Given the description of an element on the screen output the (x, y) to click on. 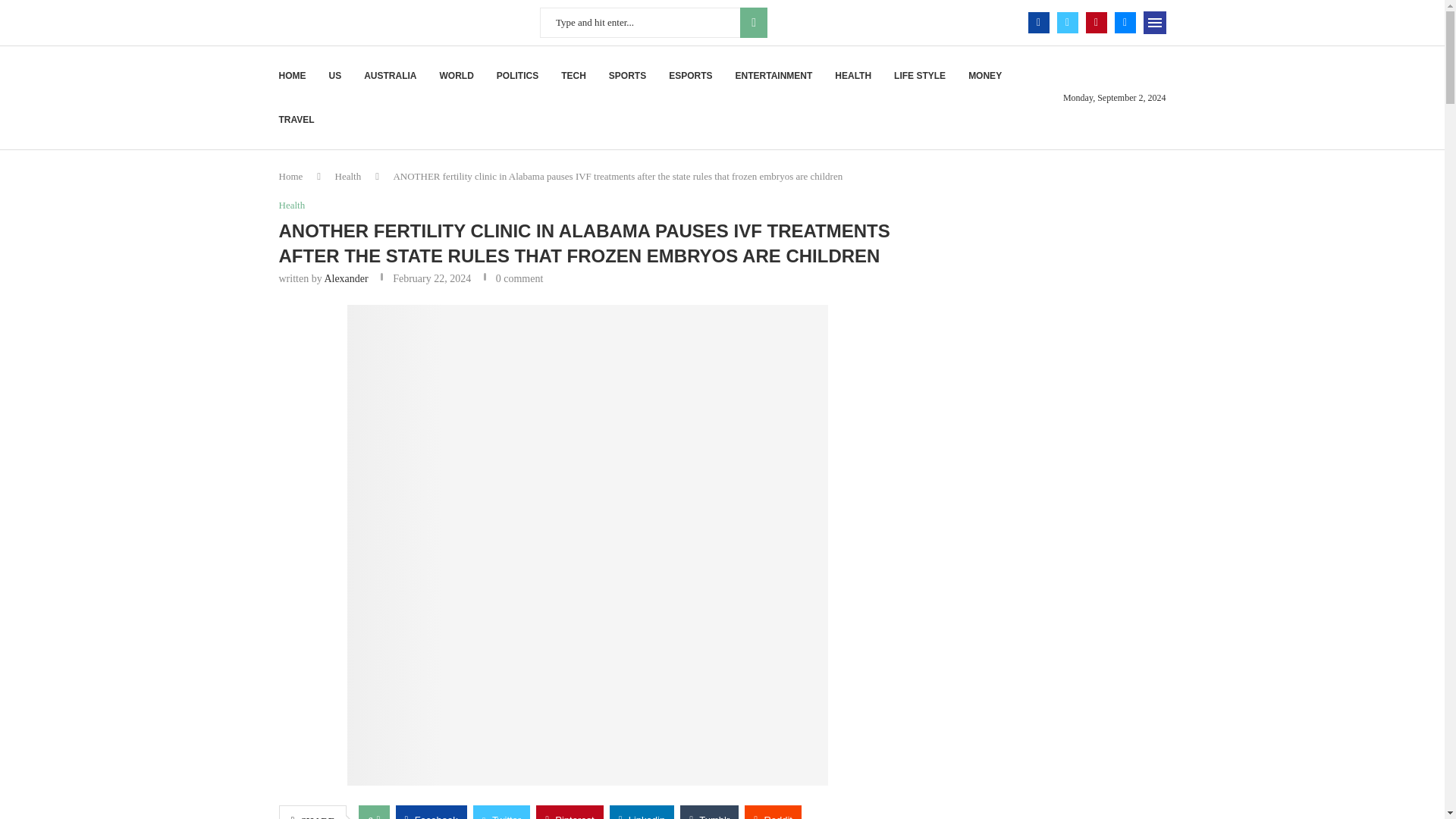
AUSTRALIA (390, 75)
POLITICS (517, 75)
ESPORTS (689, 75)
LIFE STYLE (918, 75)
ENTERTAINMENT (773, 75)
SEARCH (753, 22)
